Given the description of an element on the screen output the (x, y) to click on. 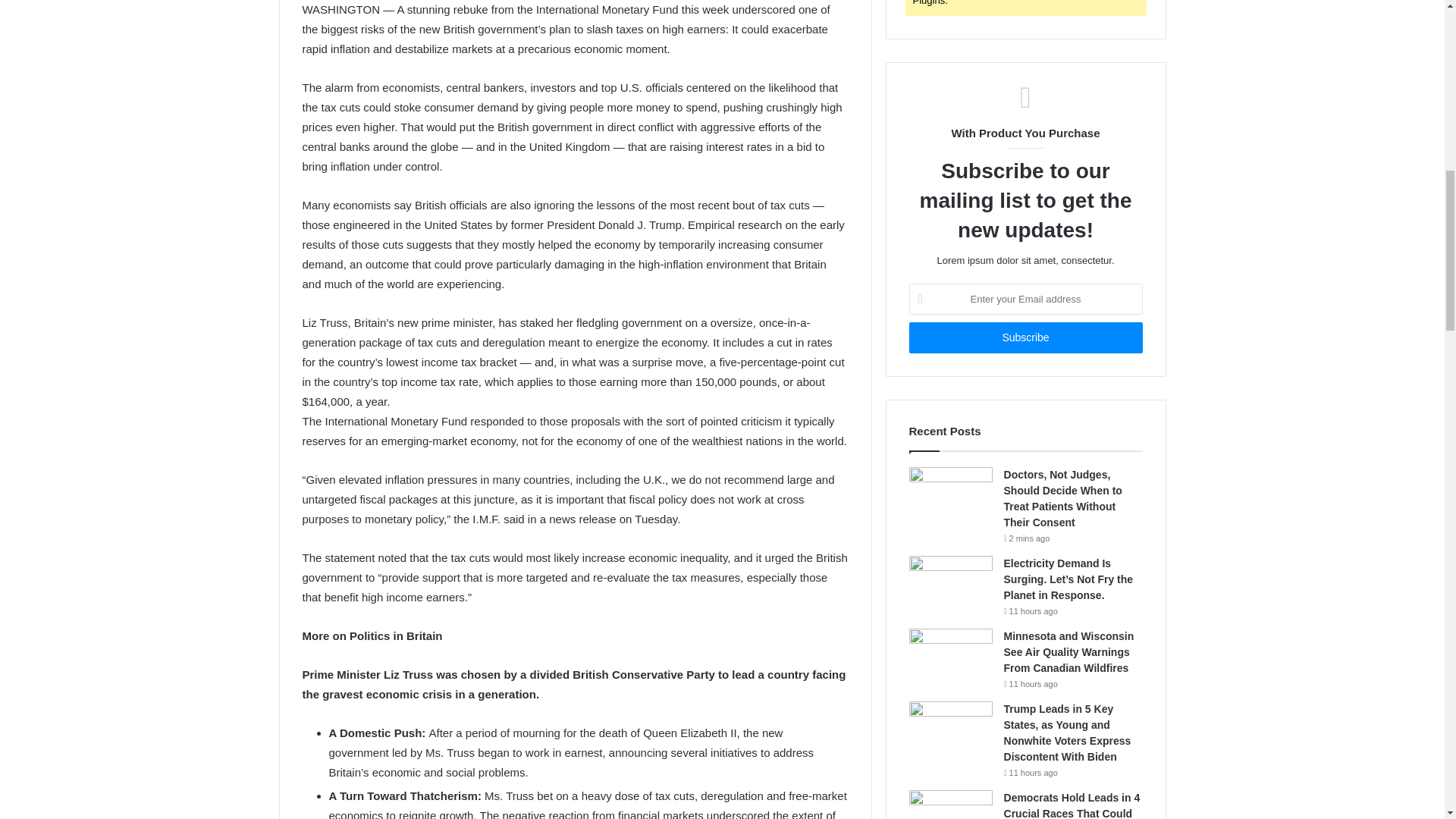
Subscribe (1025, 337)
